Given the description of an element on the screen output the (x, y) to click on. 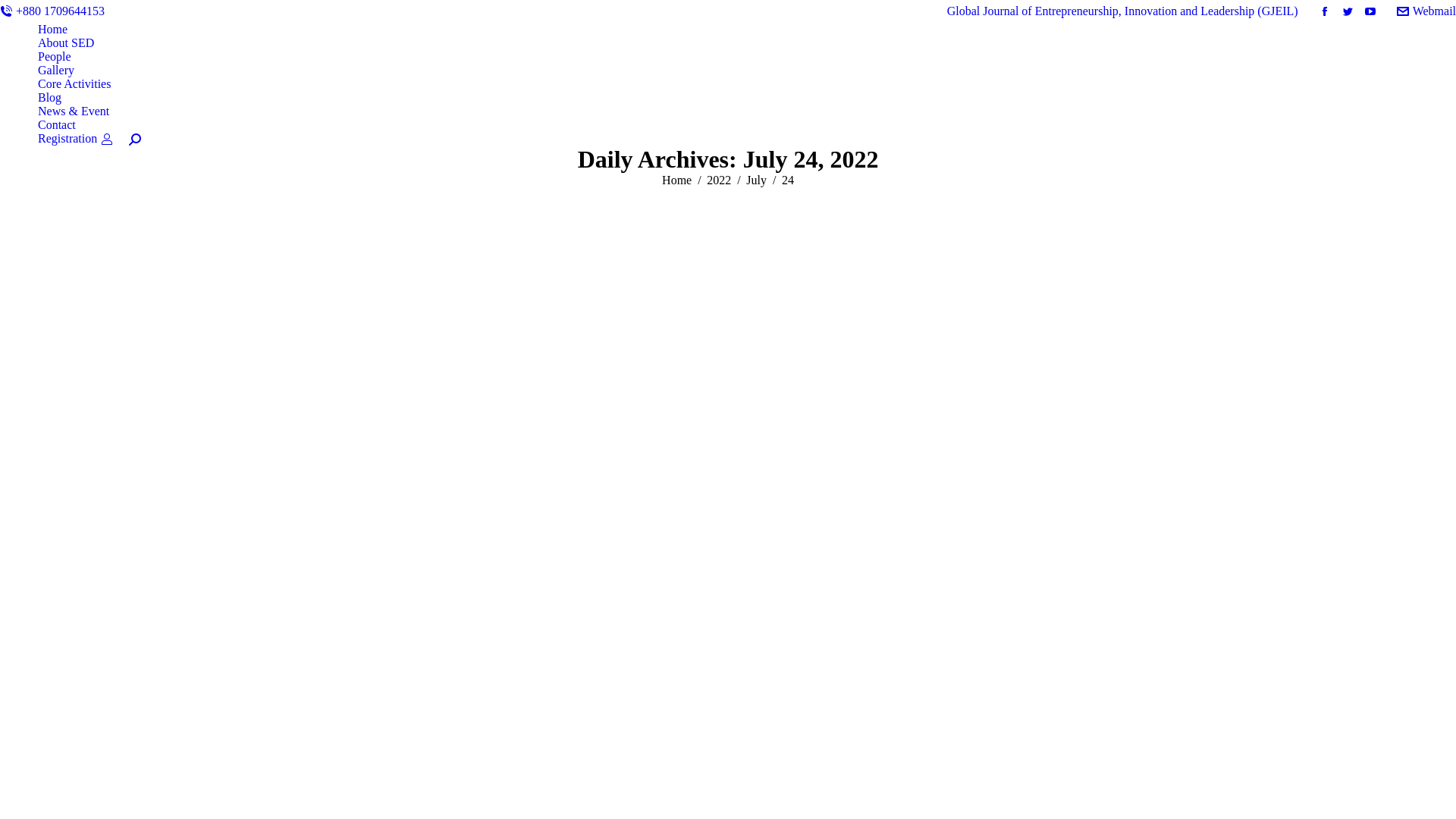
Blog Element type: text (49, 97)
Core Activities Element type: text (73, 84)
YouTube page opens in new window Element type: text (1370, 11)
Registration Element type: text (75, 138)
People Element type: text (54, 56)
Facebook page opens in new window Element type: text (1324, 11)
Home Element type: text (676, 179)
Contact Element type: text (56, 124)
Twitter page opens in new window Element type: text (1347, 11)
Go! Element type: text (11, 8)
News & Event Element type: text (73, 111)
+880 1709644153 Element type: text (52, 11)
Gallery Element type: text (55, 70)
July Element type: text (756, 179)
2022 Element type: text (718, 179)
Home Element type: text (52, 29)
About SED Element type: text (65, 43)
